Given the description of an element on the screen output the (x, y) to click on. 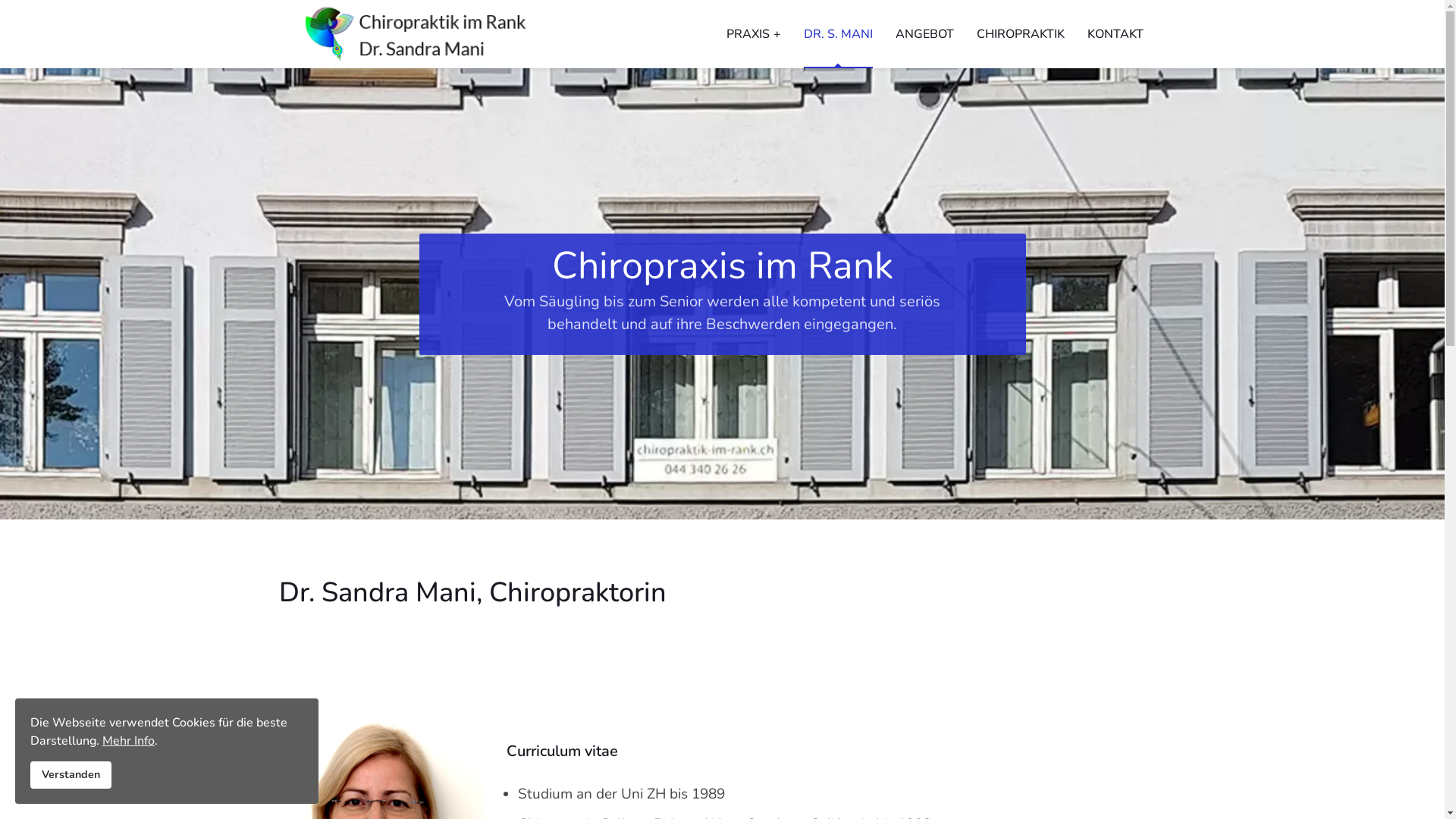
DR. S. MANI Element type: text (837, 34)
KONTAKT Element type: text (1114, 34)
PRAXIS Element type: text (752, 34)
ANGEBOT Element type: text (924, 34)
CHIROPRAKTIK Element type: text (1019, 34)
Verstanden Element type: text (70, 774)
Mehr Info Element type: text (128, 740)
